Given the description of an element on the screen output the (x, y) to click on. 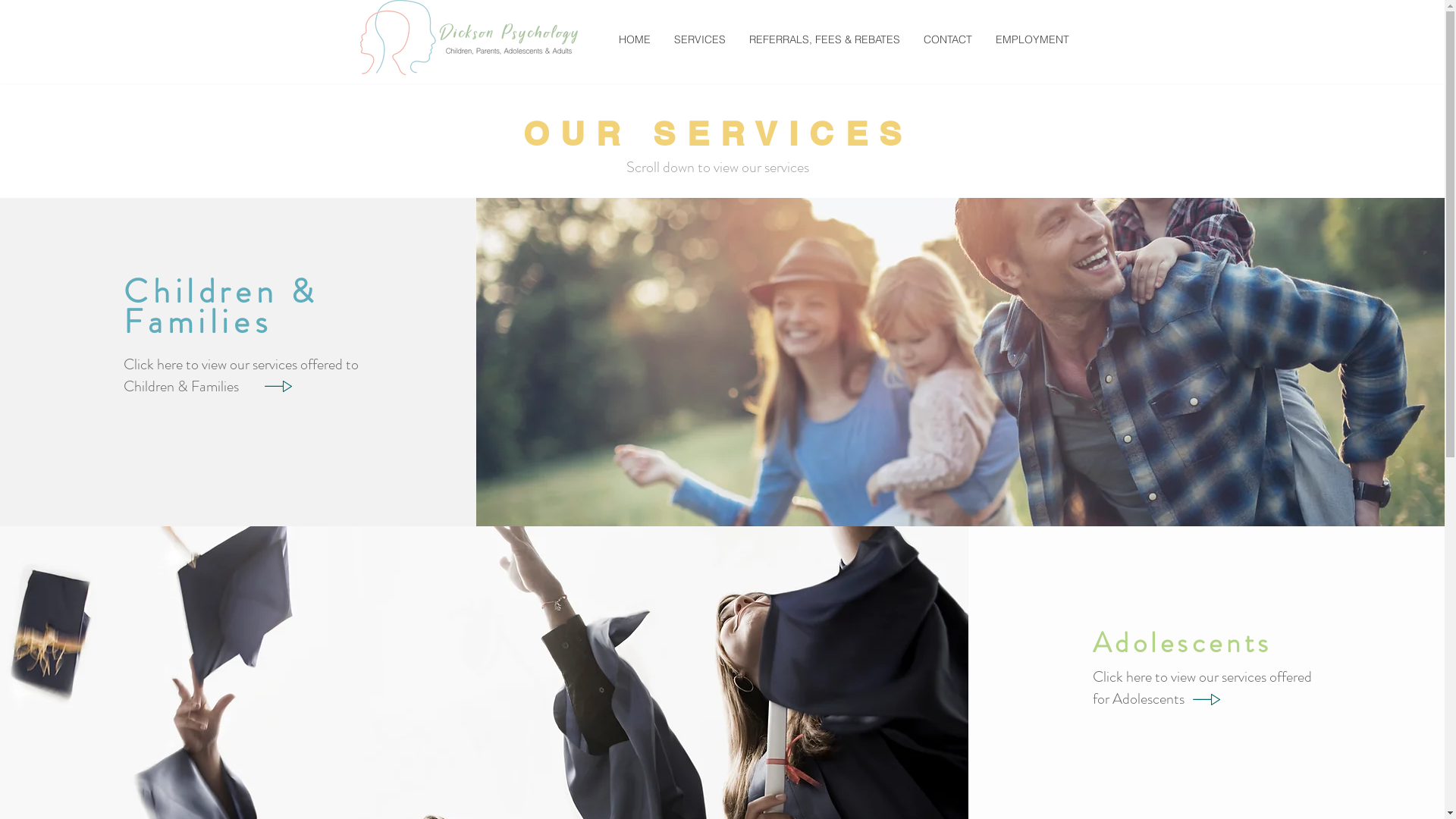
CONTACT Element type: text (947, 39)
EMPLOYMENT Element type: text (1030, 39)
REFERRALS, FEES & REBATES Element type: text (824, 39)
SERVICES Element type: text (698, 39)
HOME Element type: text (634, 39)
Click here to view our services offered for Adolescents Element type: text (1201, 688)
